Given the description of an element on the screen output the (x, y) to click on. 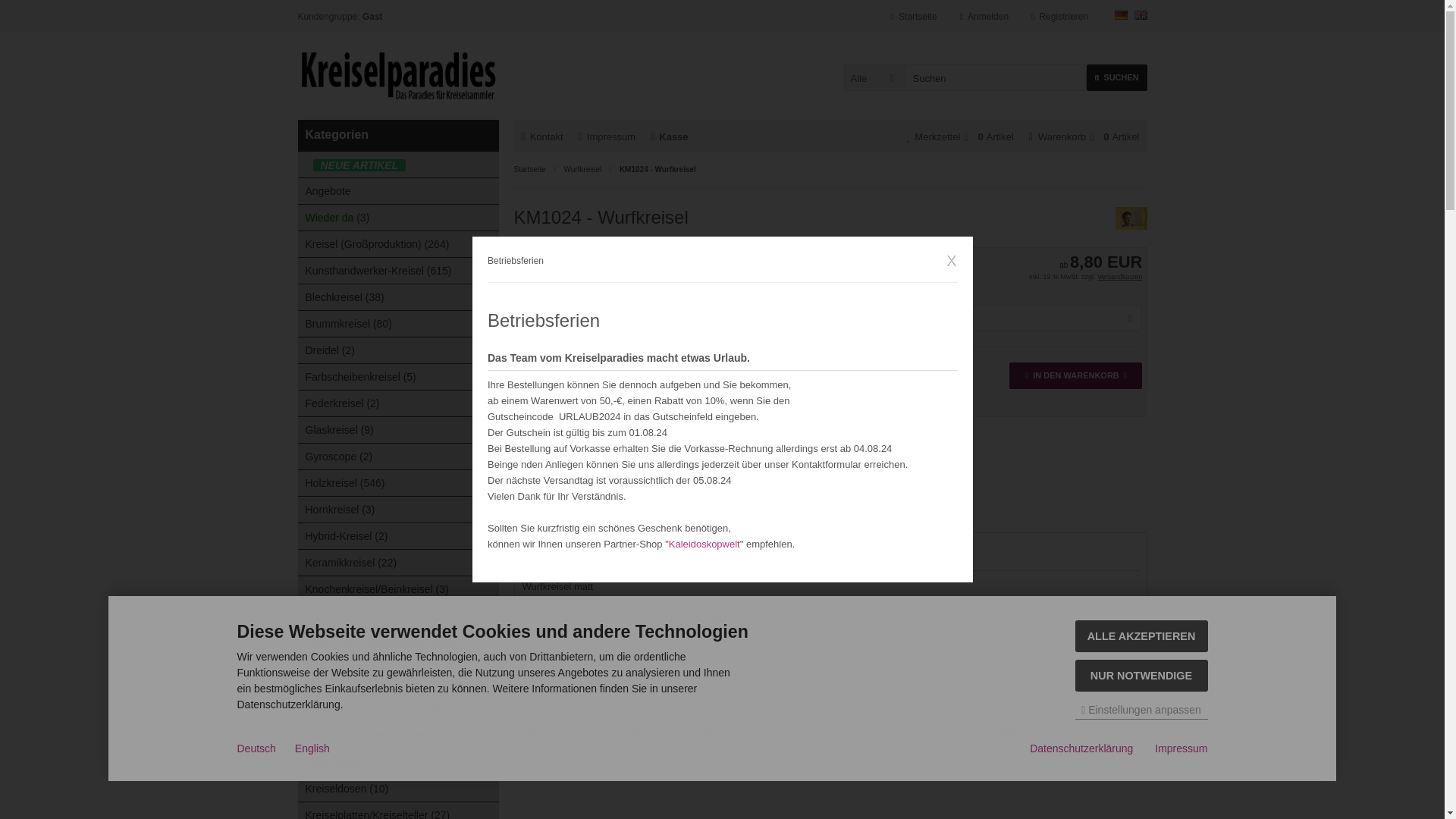
 Alle (873, 77)
Impressum (606, 136)
Auf den Merkzettel (831, 428)
Wurfkreisel (582, 169)
Konstantinos Mogolias (831, 347)
Startseite (914, 16)
Konstantinos Mogolias (1131, 225)
Information (1119, 276)
Startseite (914, 16)
Kontakt (542, 136)
submit (16, 7)
Kontakt (542, 136)
Impressum (606, 136)
Deutsch (1120, 14)
Registrieren (1058, 16)
